Given the description of an element on the screen output the (x, y) to click on. 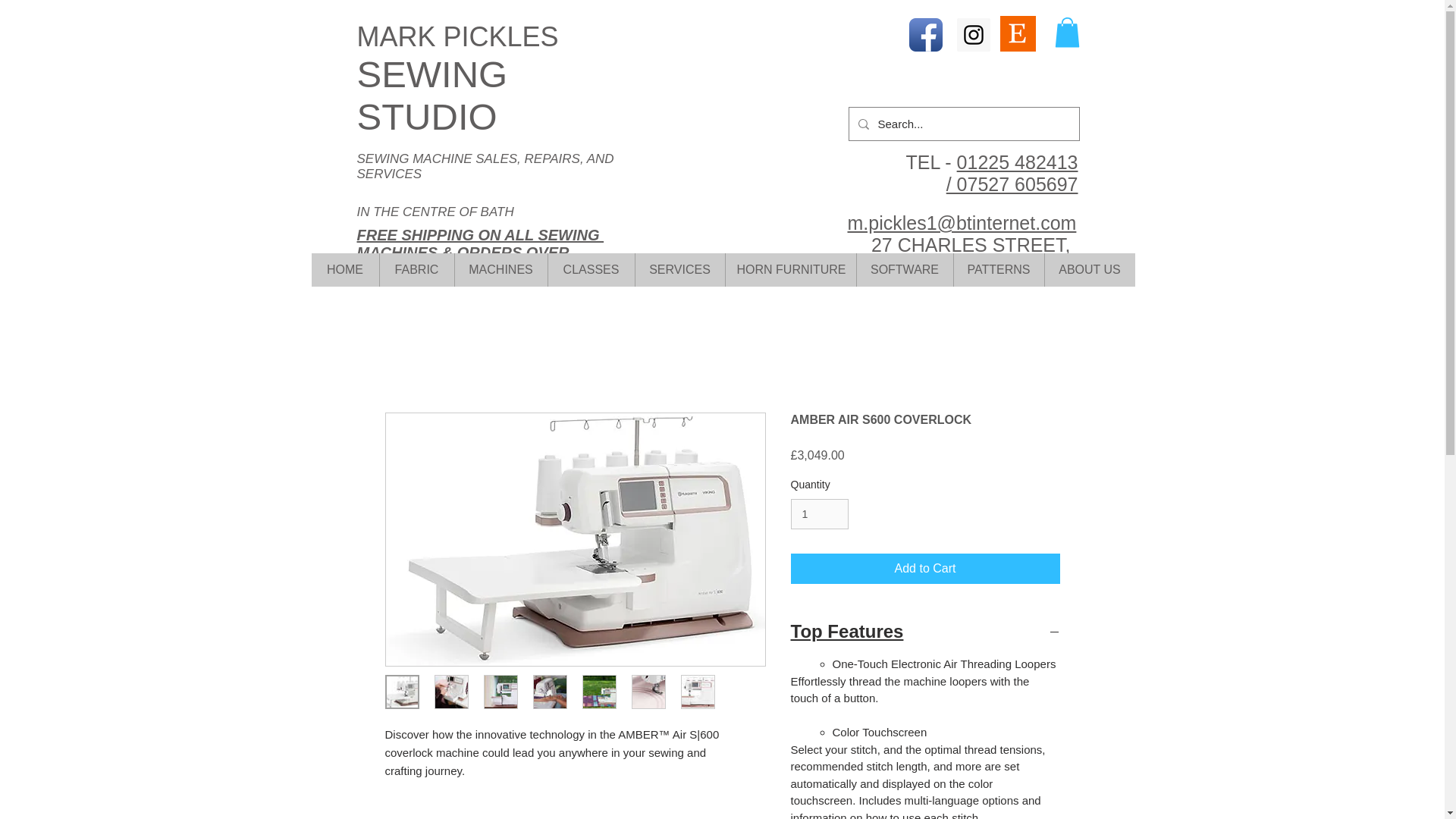
HOME (344, 269)
Add to Cart (924, 568)
SEWING STUDIO (431, 95)
1 (818, 513)
27 CHARLES STREET,  BATH, BA1 1HU (970, 255)
Top Features (924, 630)
MARK PICKLES (456, 36)
FABRIC (416, 269)
